Given the description of an element on the screen output the (x, y) to click on. 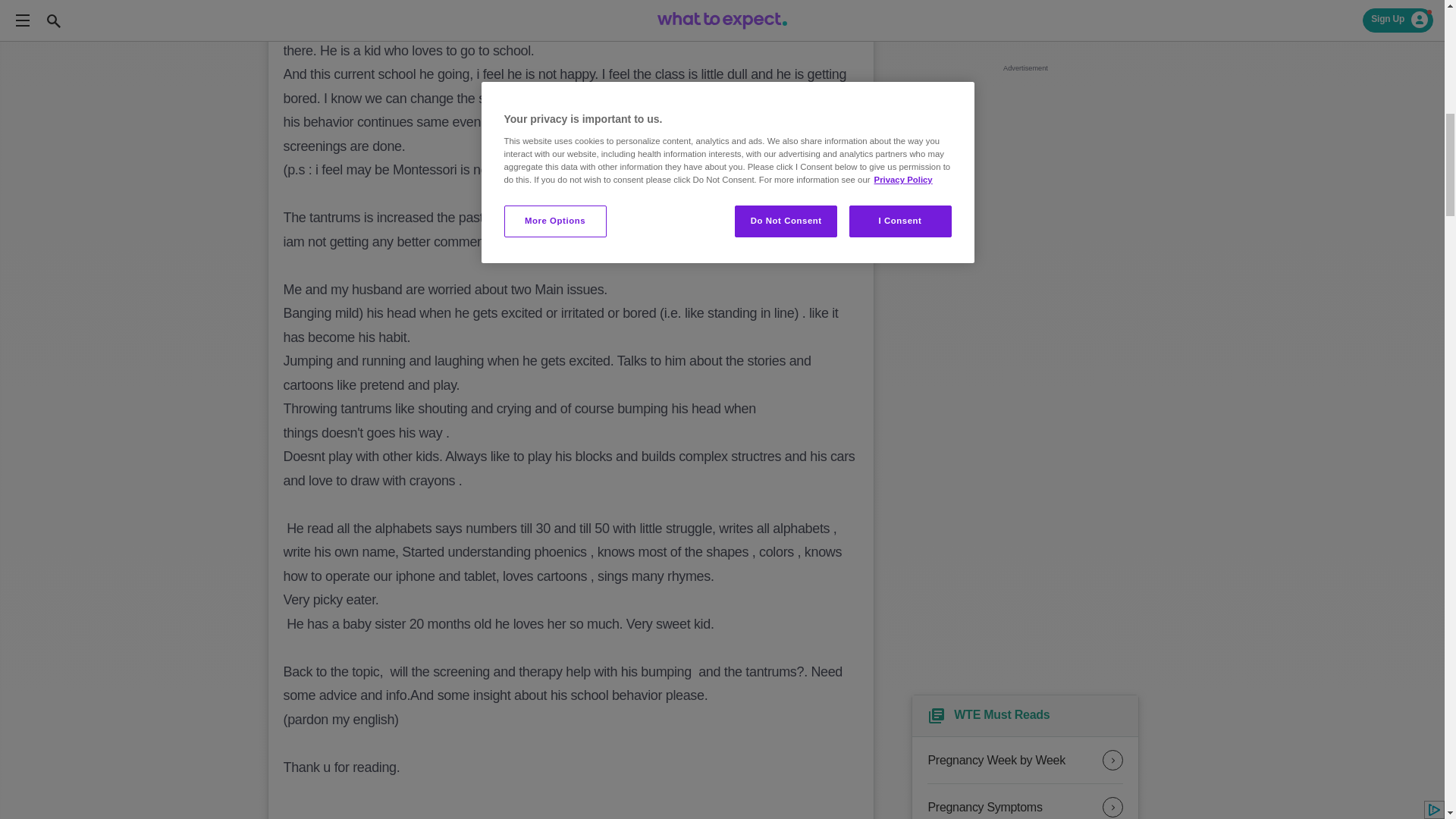
Pregnancy Symptoms (1024, 801)
Pregnancy Week by Week (1024, 760)
